Given the description of an element on the screen output the (x, y) to click on. 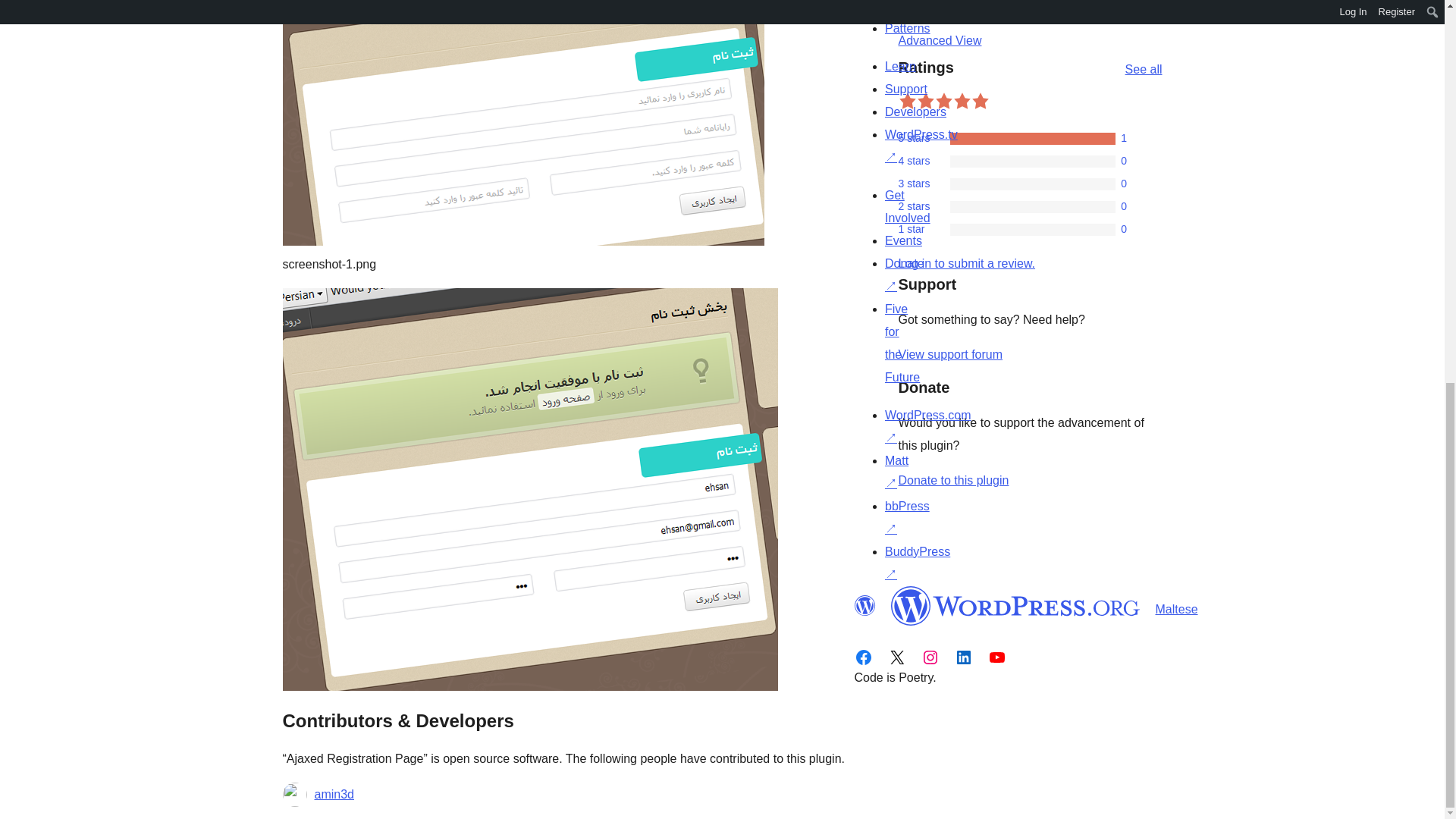
WordPress.org (864, 605)
Log in to WordPress.org (966, 263)
WordPress.org (1014, 605)
amin3d (333, 793)
